Given the description of an element on the screen output the (x, y) to click on. 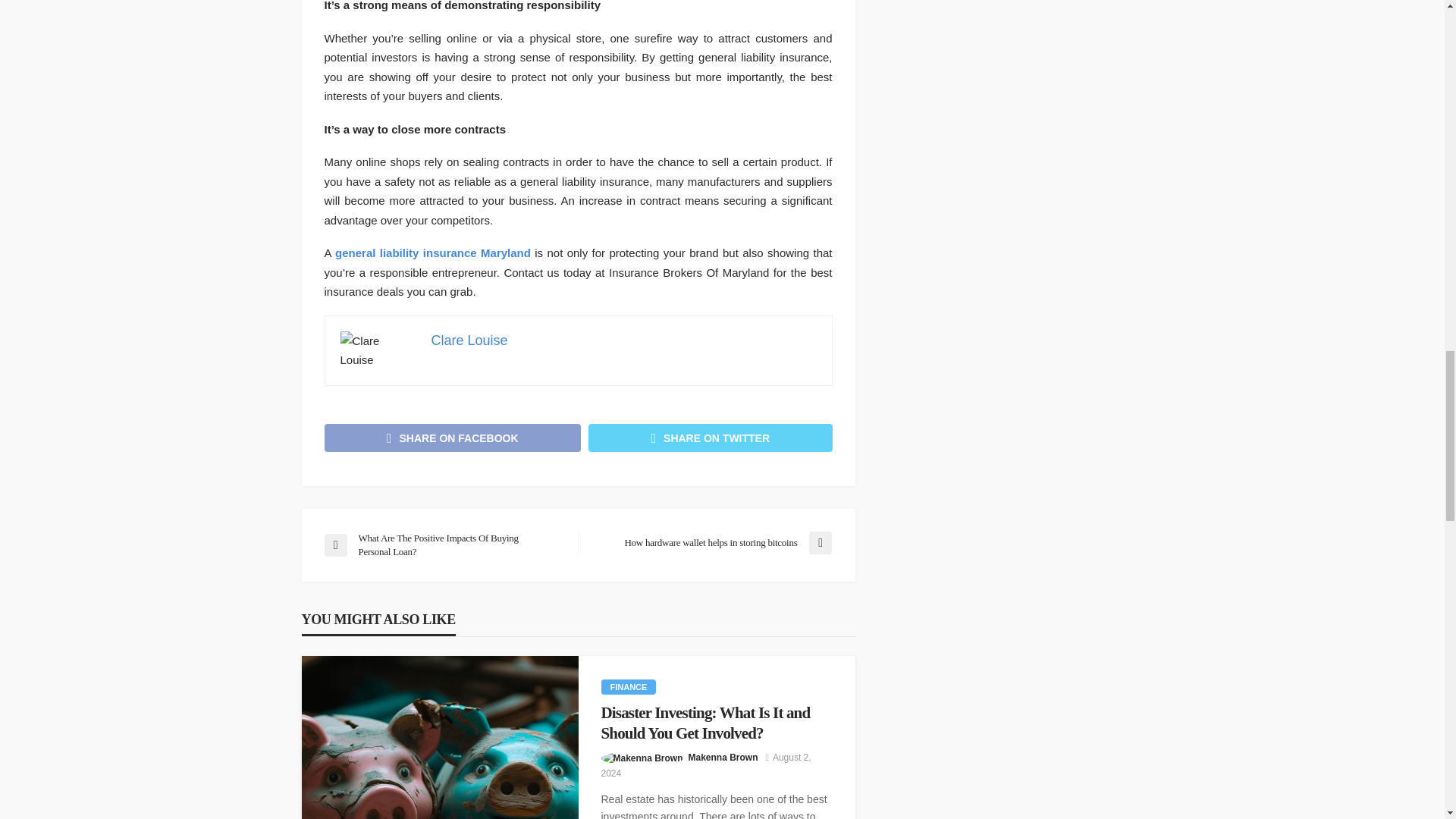
Makenna Brown (723, 757)
Clare Louise (468, 340)
Disaster Investing: What Is It and Should You Get Involved? (715, 722)
general liability insurance Maryland (432, 252)
What Are The Positive Impacts Of Buying Personal Loan?  (443, 544)
FINANCE (627, 686)
How hardware wallet helps in storing bitcoins (711, 542)
SHARE ON FACEBOOK (452, 438)
Finance (627, 686)
Disaster Investing: What Is It and Should You Get Involved? (715, 722)
